Given the description of an element on the screen output the (x, y) to click on. 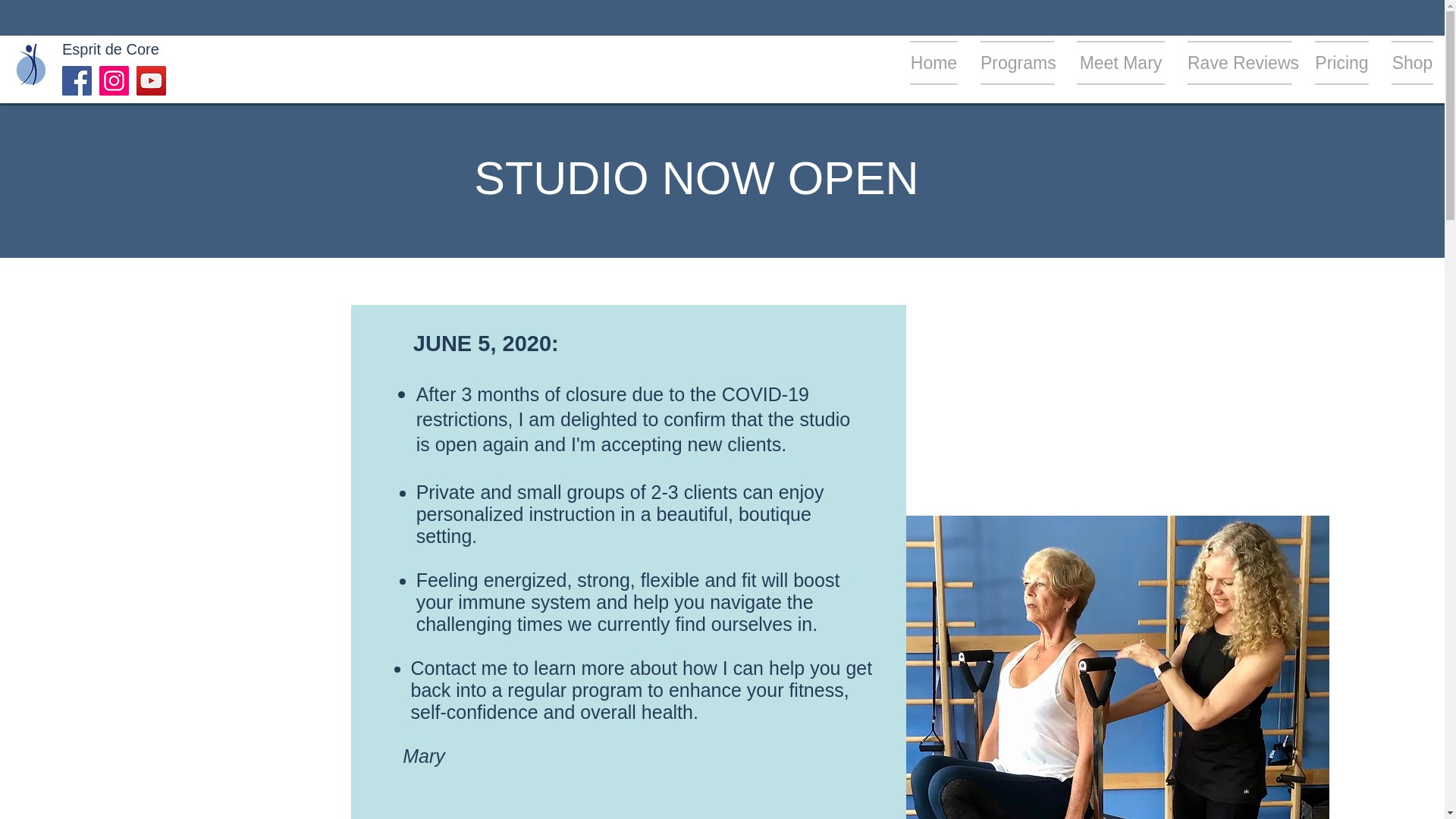
Home (939, 62)
Shop (1406, 62)
Esprit de Core (110, 48)
Meet Mary (1120, 62)
Rave Reviews (1239, 62)
Pricing (1341, 62)
